Given the description of an element on the screen output the (x, y) to click on. 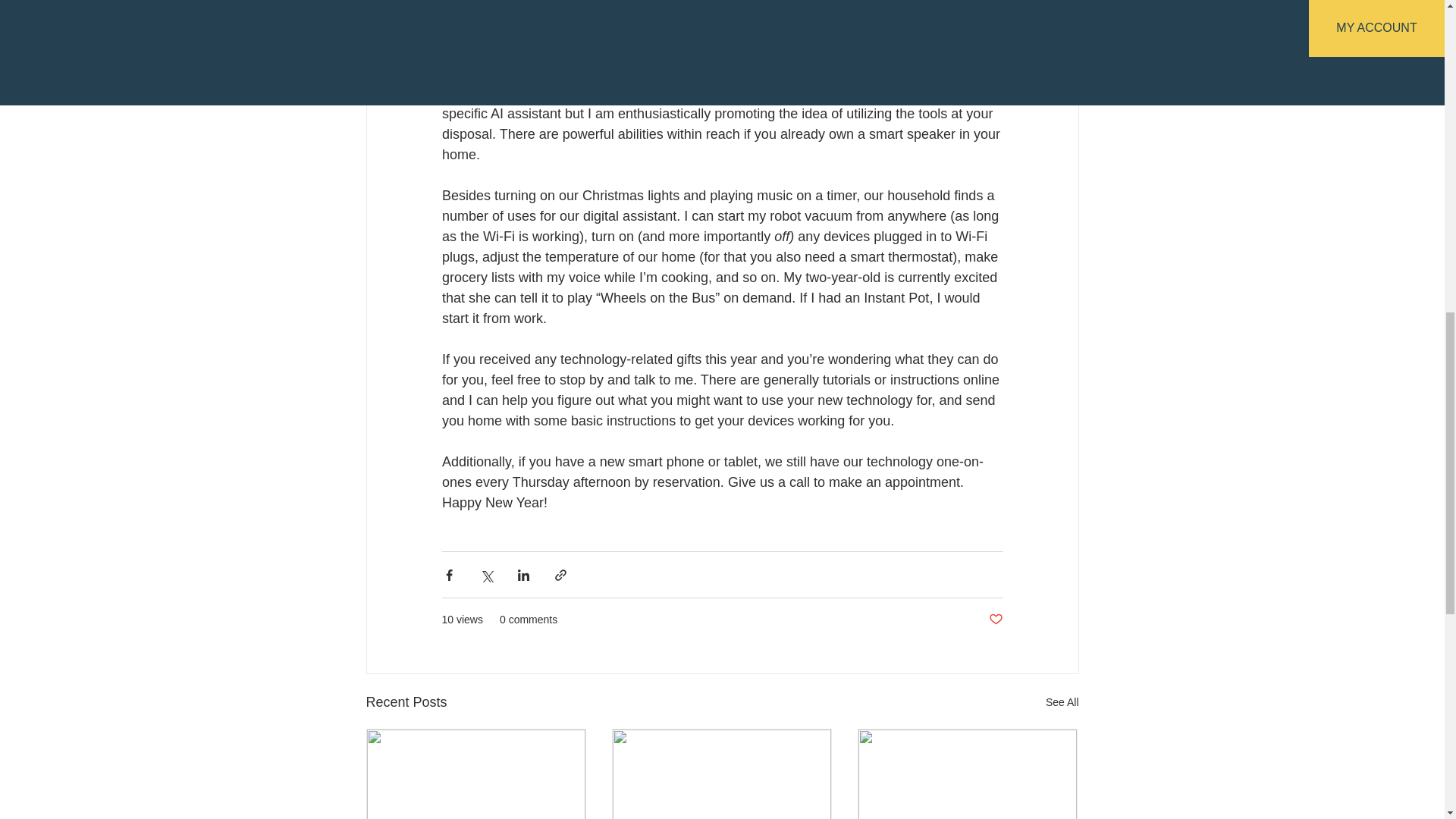
See All (1061, 702)
Post not marked as liked (995, 619)
